Given the description of an element on the screen output the (x, y) to click on. 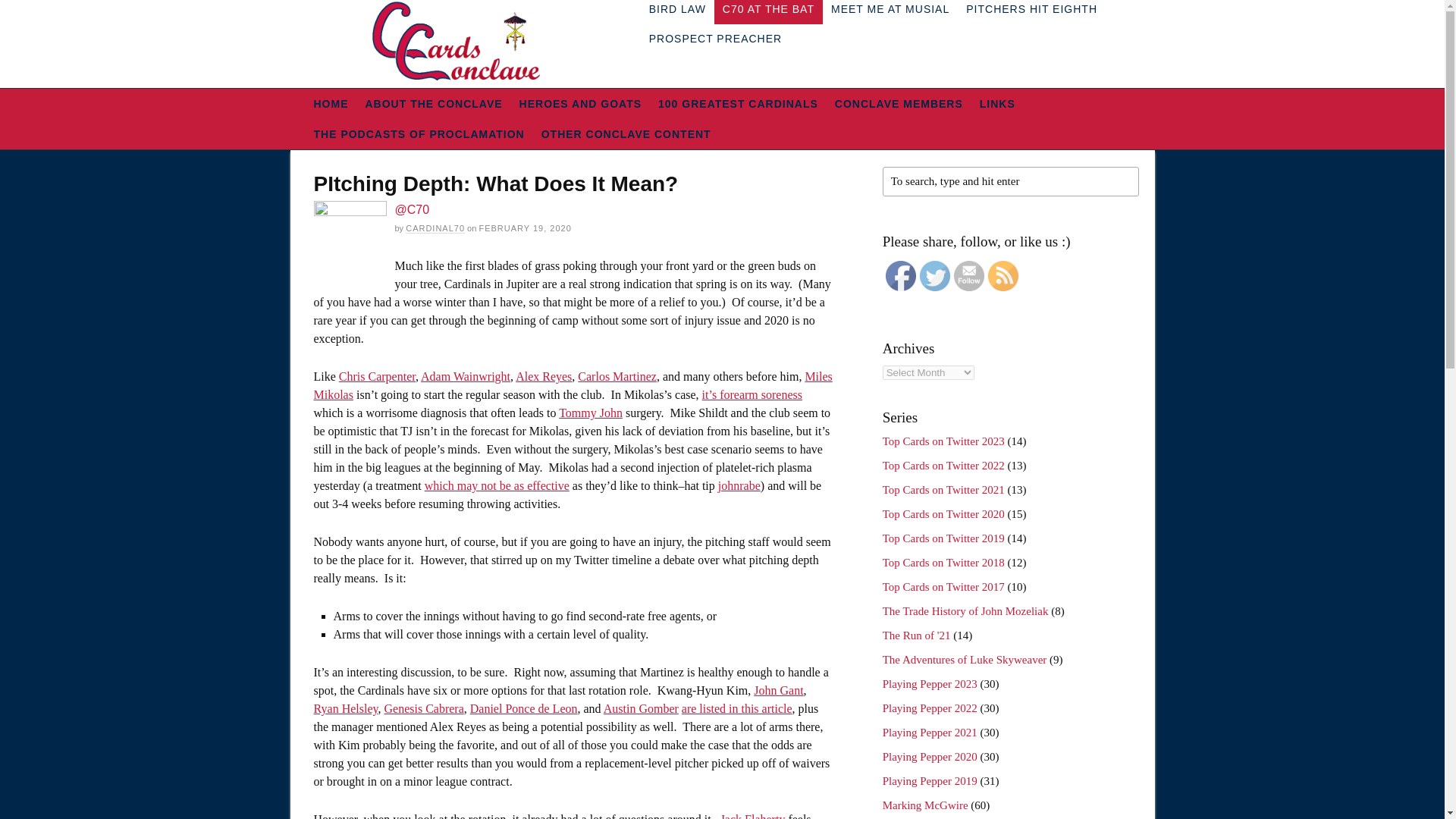
PROSPECT PREACHER (715, 39)
LINKS (997, 103)
Adam Wainwright (465, 376)
CARDINAL70 (435, 228)
2020-02-19 (524, 227)
C70 AT THE BAT (768, 12)
BIRD LAW (677, 12)
Twitter (935, 276)
Follow by Email (968, 276)
RSS (1002, 276)
Chris Carpenter (376, 376)
100 GREATEST CARDINALS (738, 103)
Facebook (900, 276)
OTHER CONCLAVE CONTENT (625, 133)
ABOUT THE CONCLAVE (433, 103)
